Given the description of an element on the screen output the (x, y) to click on. 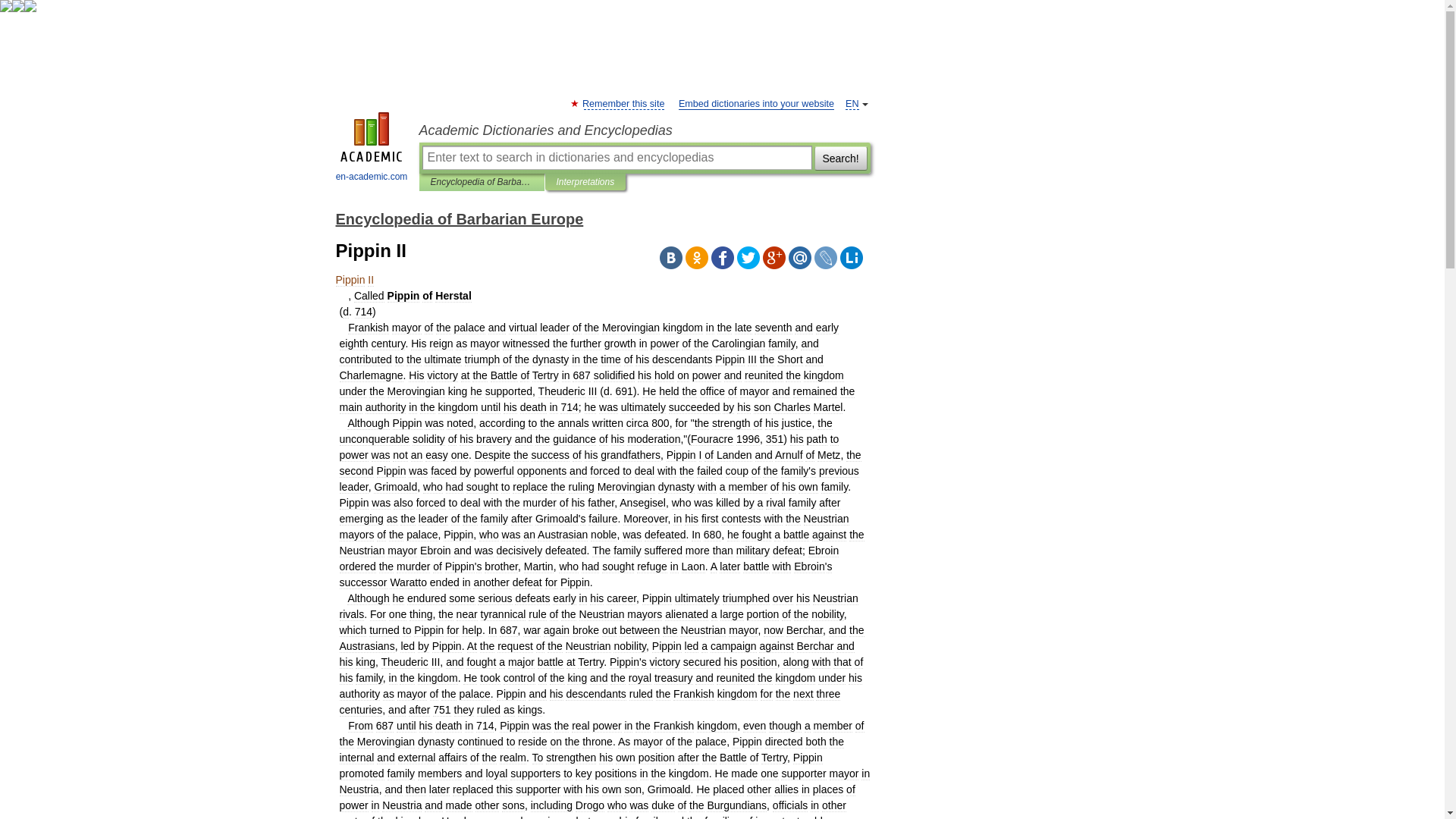
Embed dictionaries into your website (756, 103)
Academic Dictionaries and Encyclopedias (644, 130)
Remember this site (623, 103)
Encyclopedia of Barbarian Europe (481, 181)
EN (852, 103)
Encyclopedia of Barbarian Europe (458, 218)
Search! (840, 157)
Enter text to search in dictionaries and encyclopedias (616, 157)
en-academic.com (371, 148)
Interpretations (585, 181)
